Given the description of an element on the screen output the (x, y) to click on. 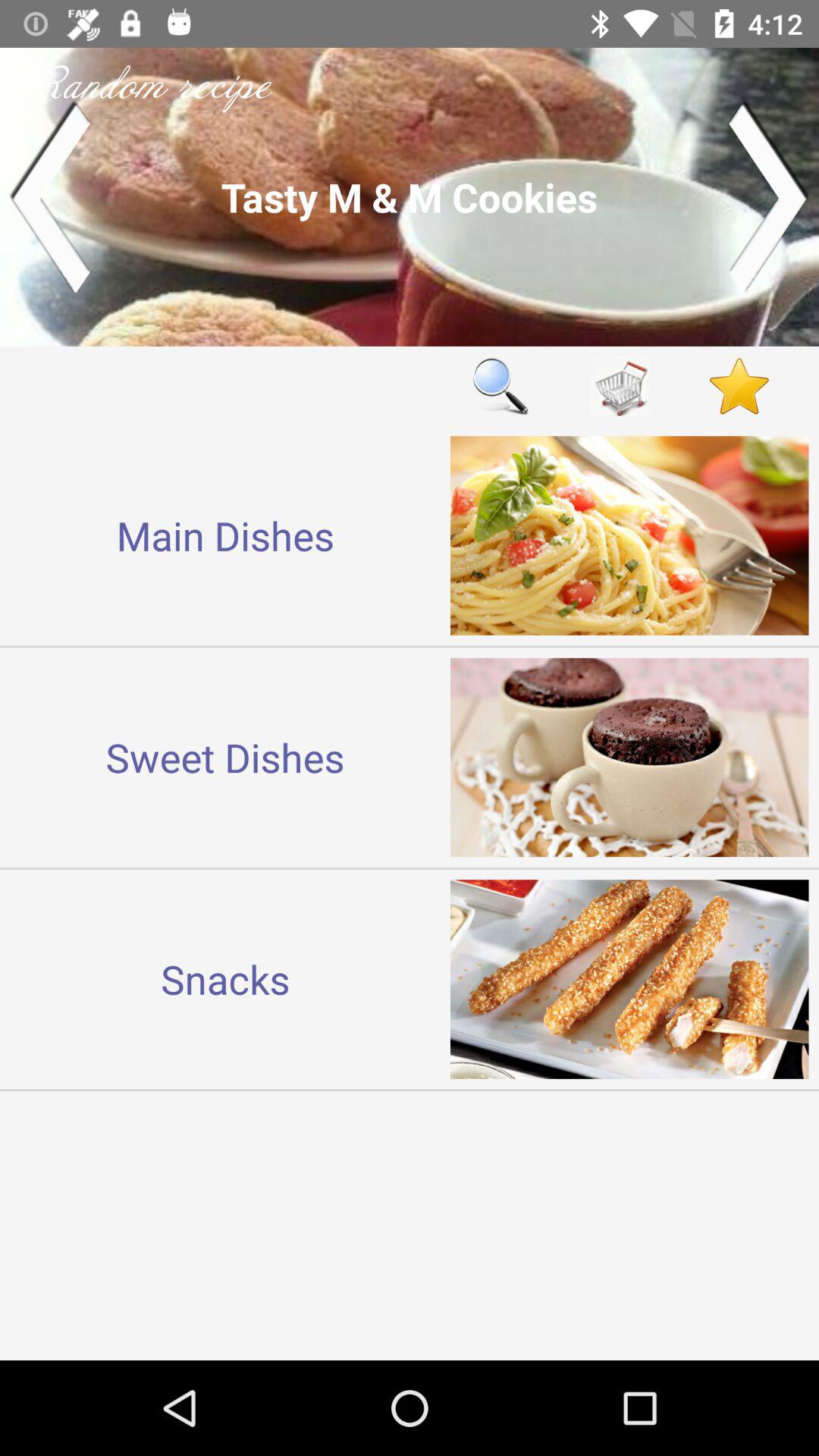
next (769, 196)
